Given the description of an element on the screen output the (x, y) to click on. 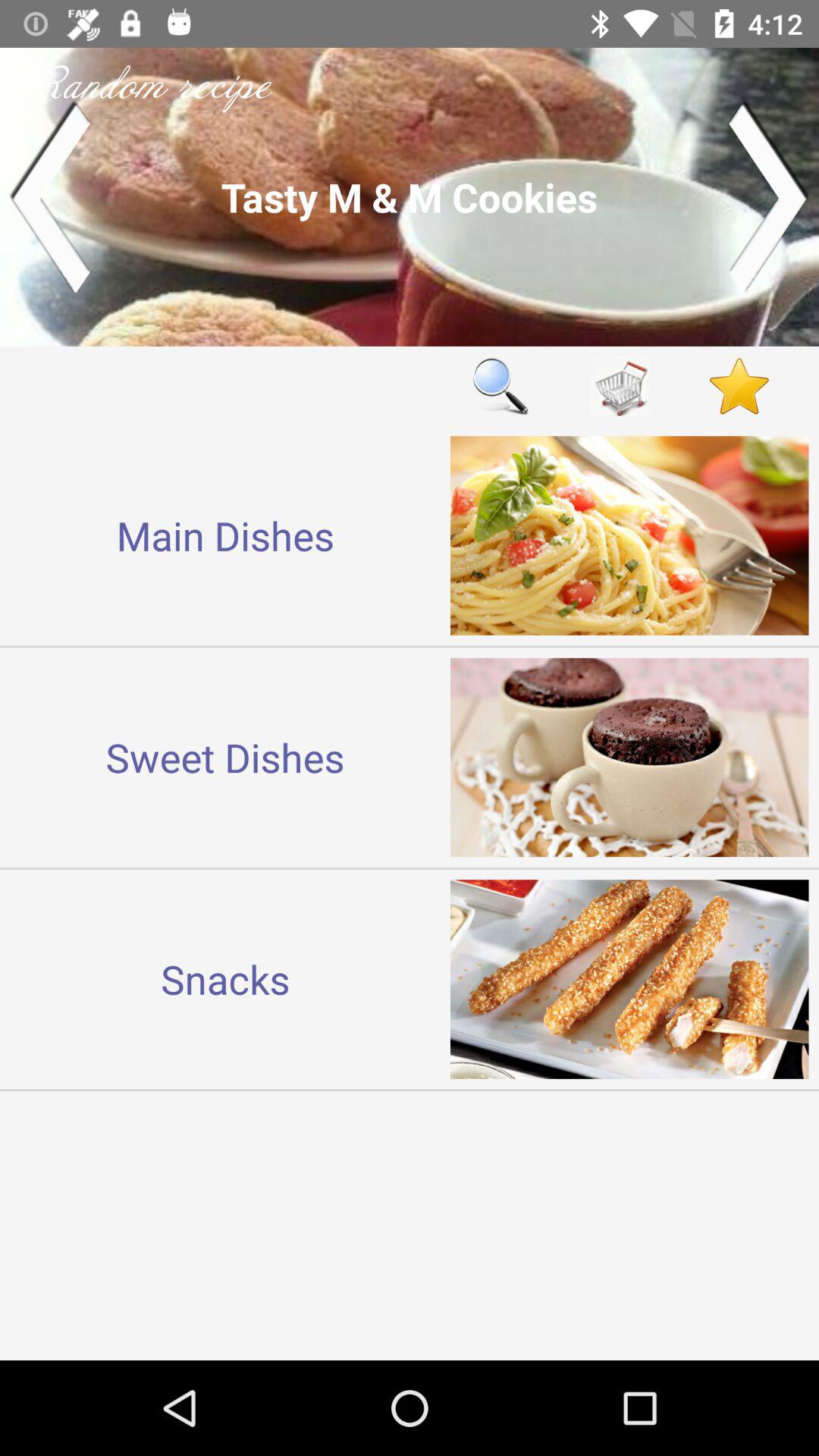
next (769, 196)
